Given the description of an element on the screen output the (x, y) to click on. 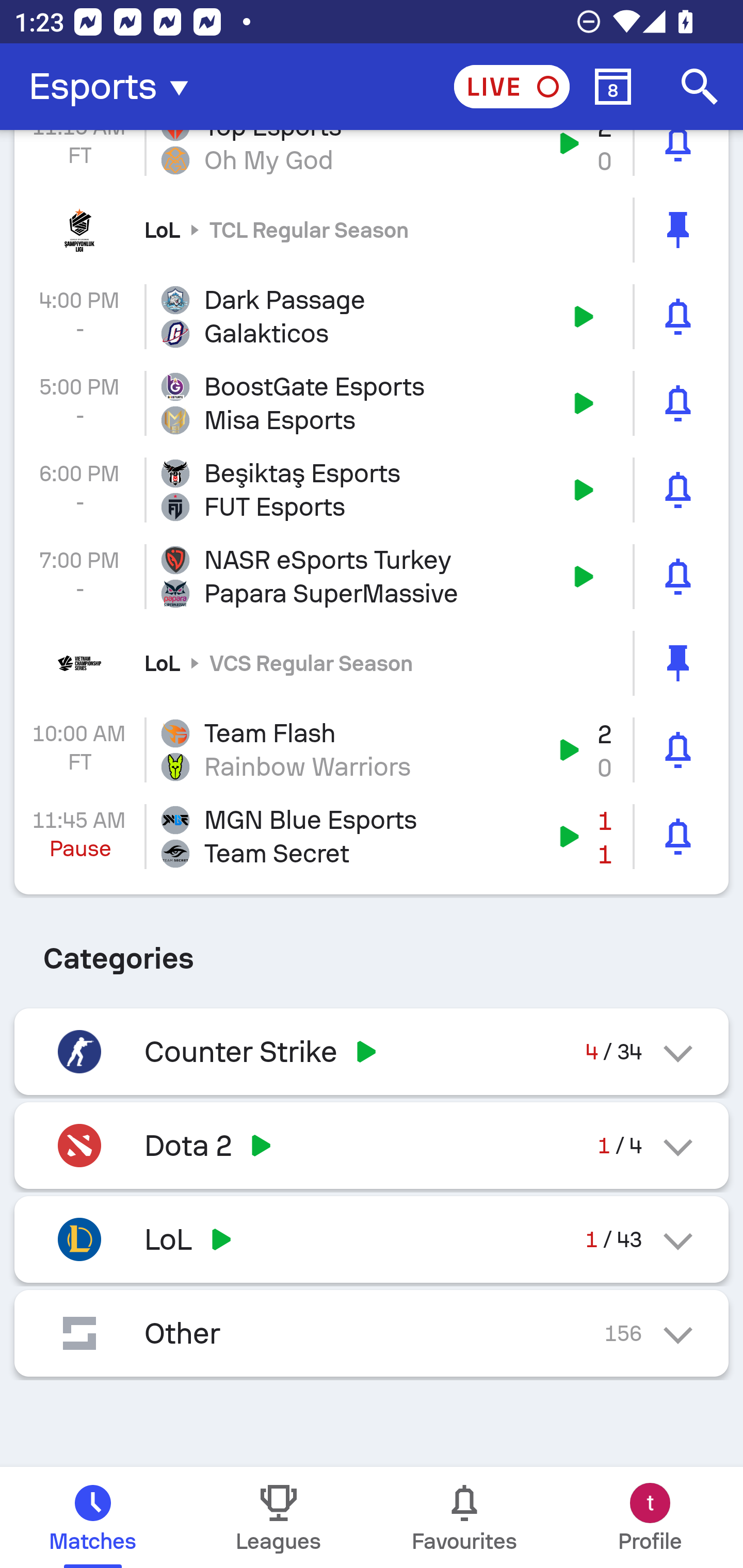
Esports (114, 86)
Calendar (612, 86)
Search (699, 86)
LoL TCL Regular Season (371, 229)
4:00 PM - Dark Passage Galakticos (371, 316)
5:00 PM - BoostGate Esports Misa Esports (371, 403)
6:00 PM - Beşiktaş Esports FUT Esports (371, 489)
7:00 PM - NASR eSports Turkey Papara SuperMassive (371, 576)
LoL VCS Regular Season (371, 663)
10:00 AM FT Team Flash Rainbow Warriors 2 0 (371, 750)
11:45 AM Pause MGN Blue Esports Team Secret 1 1 (371, 836)
Categories (371, 951)
Counter Strike 4 / 34 (371, 1051)
Dota 2 1 / 4 (371, 1145)
LoL 1 / 43 (371, 1239)
Other 156 (371, 1333)
Leagues (278, 1517)
Favourites (464, 1517)
Profile (650, 1517)
